Given the description of an element on the screen output the (x, y) to click on. 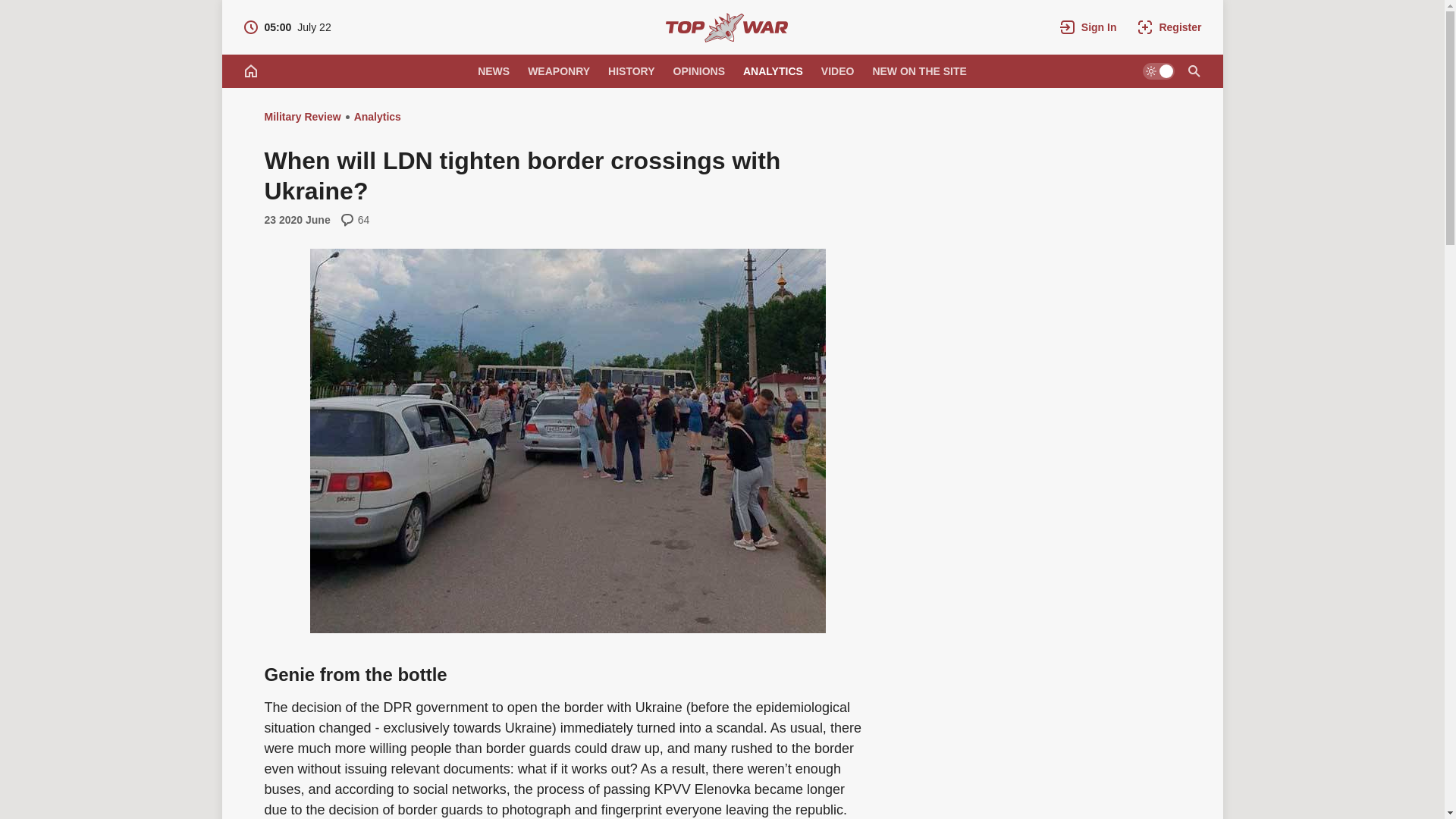
NEW ON THE SITE (919, 70)
Military Review (301, 116)
Sign In (1088, 27)
Register (1168, 27)
NEWS (493, 70)
WEAPONRY (558, 70)
VIDEO (837, 70)
OPINIONS (698, 70)
Military Review (726, 27)
HISTORY (630, 70)
Site search (1192, 70)
ANALYTICS (286, 27)
